Given the description of an element on the screen output the (x, y) to click on. 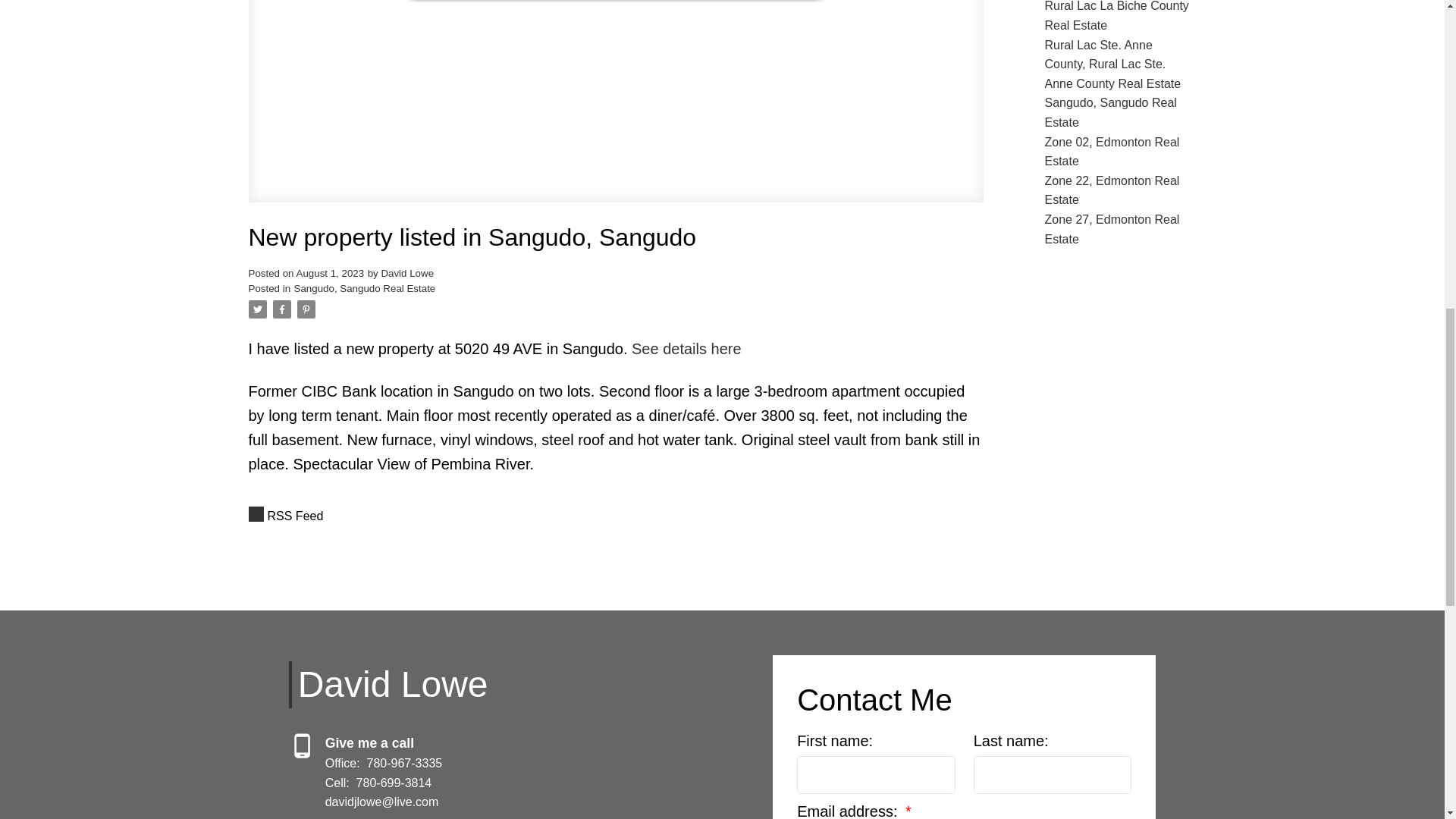
Sangudo, Sangudo Real Estate (364, 288)
RSS (616, 516)
See details here (686, 348)
